Given the description of an element on the screen output the (x, y) to click on. 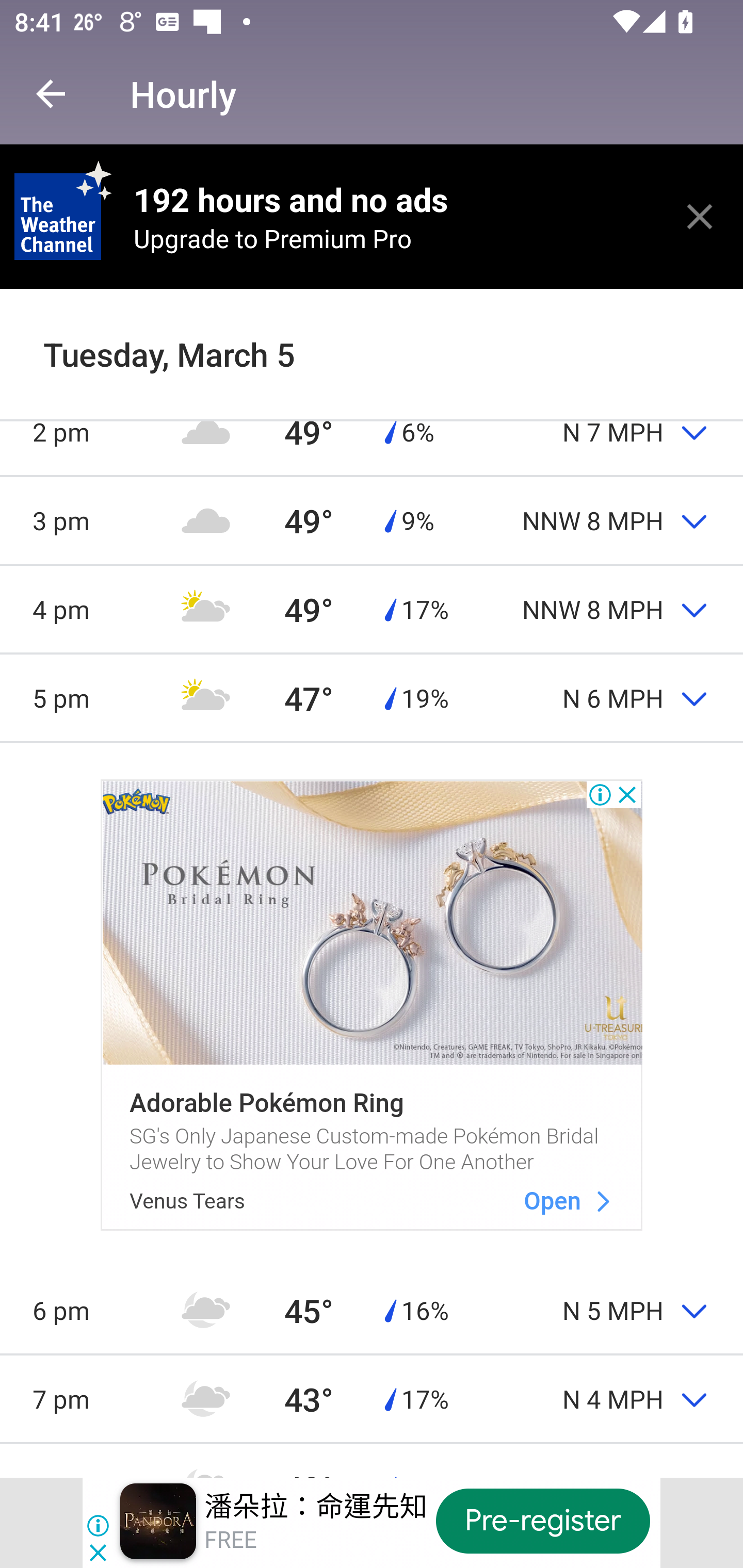
Navigate up (50, 93)
close this (699, 216)
1 pm 48° 7% N 6 MPH (371, 342)
2 pm 49° 6% N 7 MPH (371, 431)
3 pm 49° 9% NNW 8 MPH (371, 520)
4 pm 49° 17% NNW 8 MPH (371, 609)
5 pm 47° 19% N 6 MPH (371, 697)
pokemon (371, 922)
Adorable Pokémon Ring (266, 1103)
pokemon (602, 1200)
Open (552, 1200)
Venus Tears (187, 1199)
6 pm 45° 16% N 5 MPH (371, 1309)
7 pm 43° 17% N 4 MPH (371, 1398)
潘朵拉：命運先知 (316, 1506)
Pre-register (542, 1520)
FREE (230, 1540)
